Given the description of an element on the screen output the (x, y) to click on. 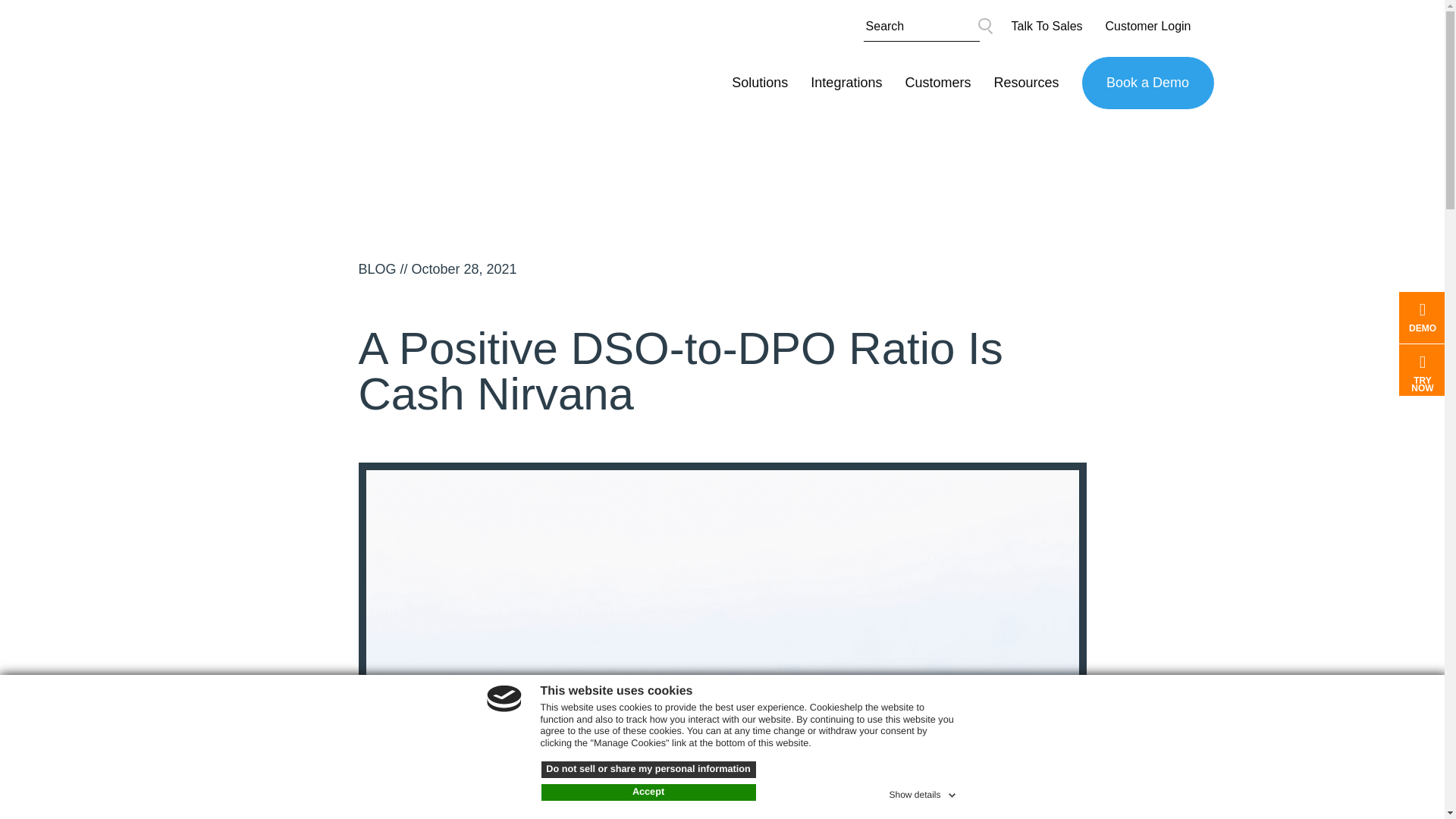
Show details (923, 791)
Accept (648, 791)
Do not sell or share my personal information (648, 769)
